Given the description of an element on the screen output the (x, y) to click on. 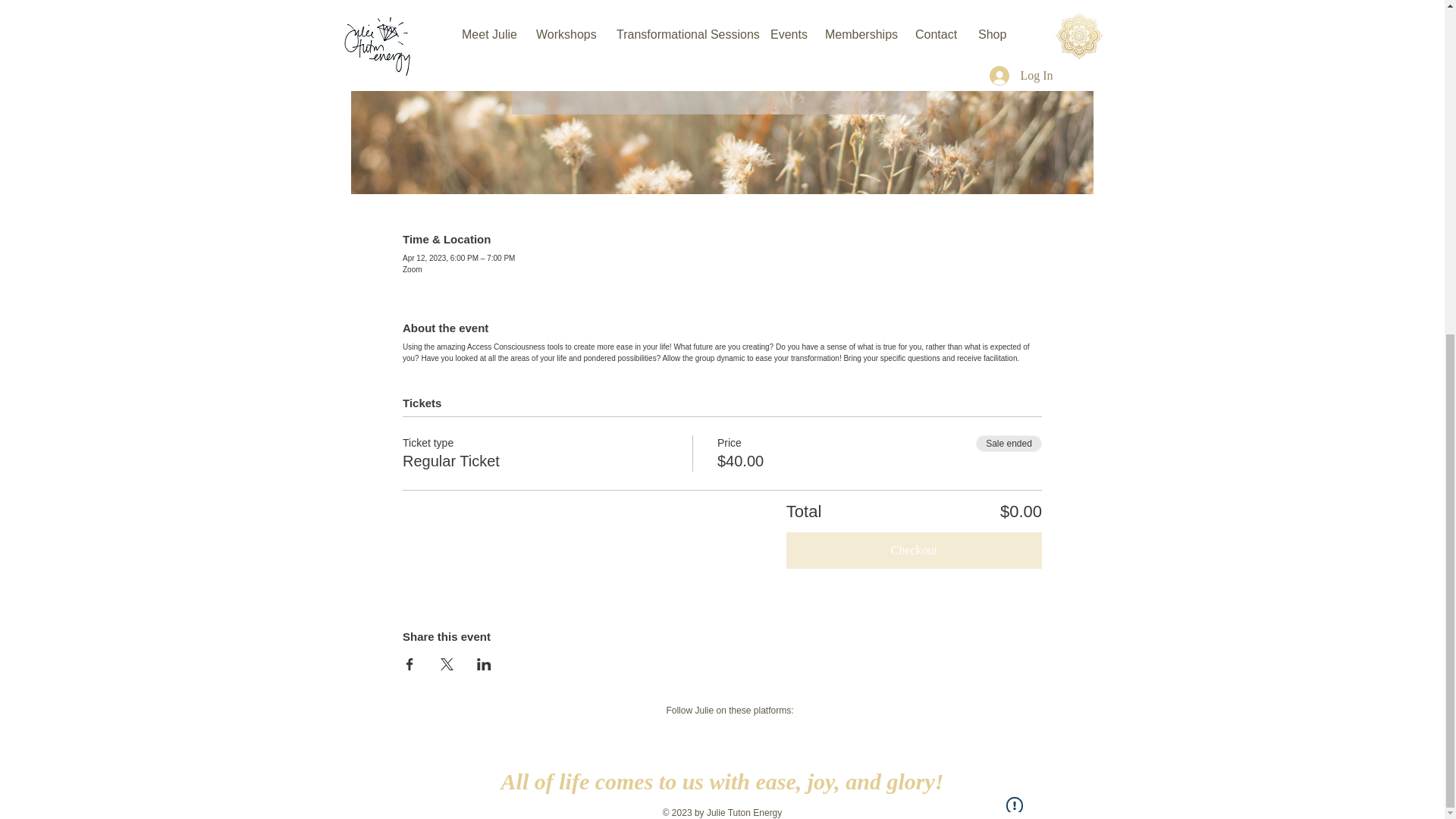
Checkout (914, 550)
Follow Julie on these platforms: (729, 710)
 by Julie Tuton Energy (738, 812)
